Given the description of an element on the screen output the (x, y) to click on. 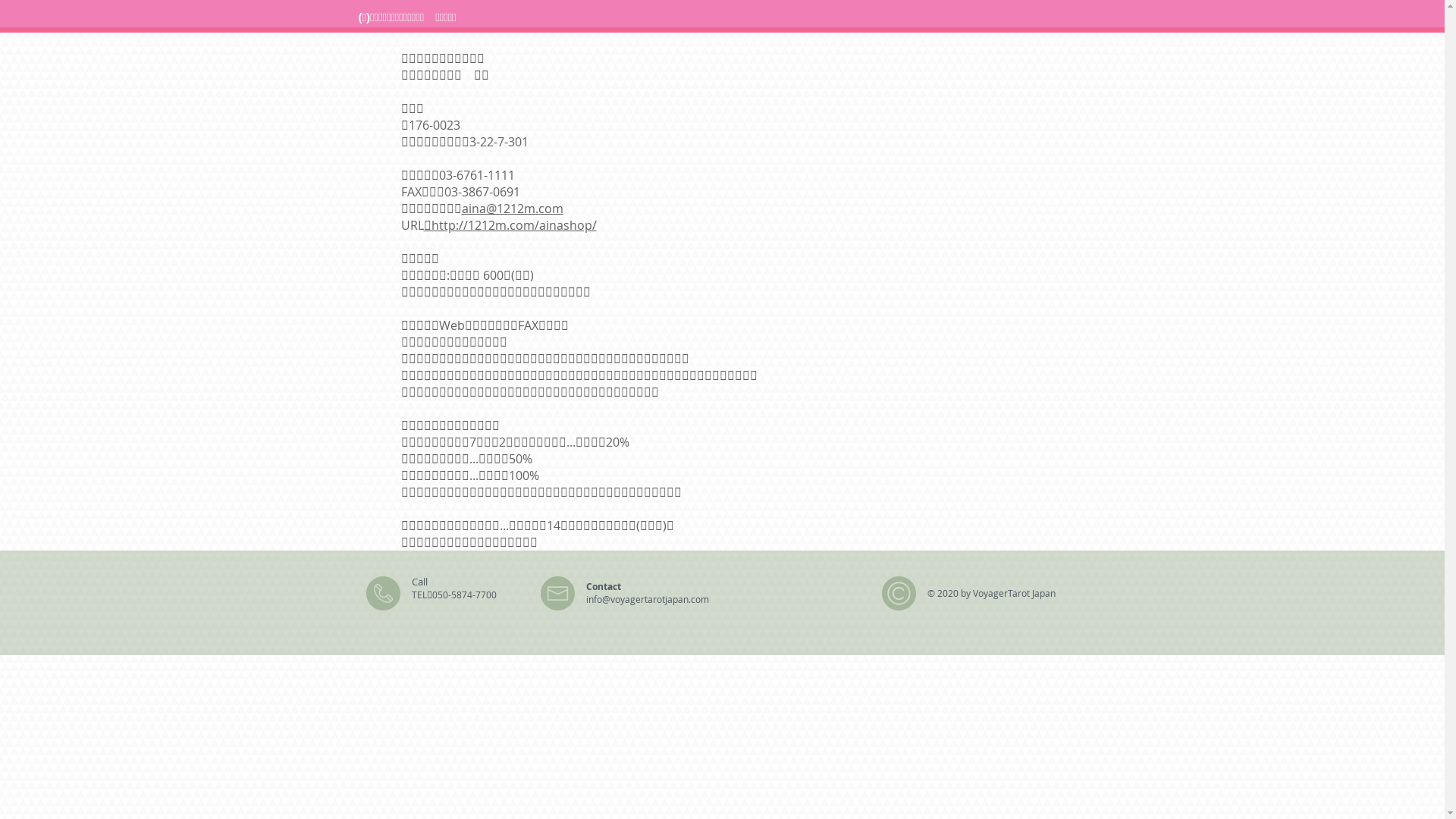
info@voyagertarotjapan.com Element type: text (646, 599)
aina@1212m.com Element type: text (511, 208)
